Given the description of an element on the screen output the (x, y) to click on. 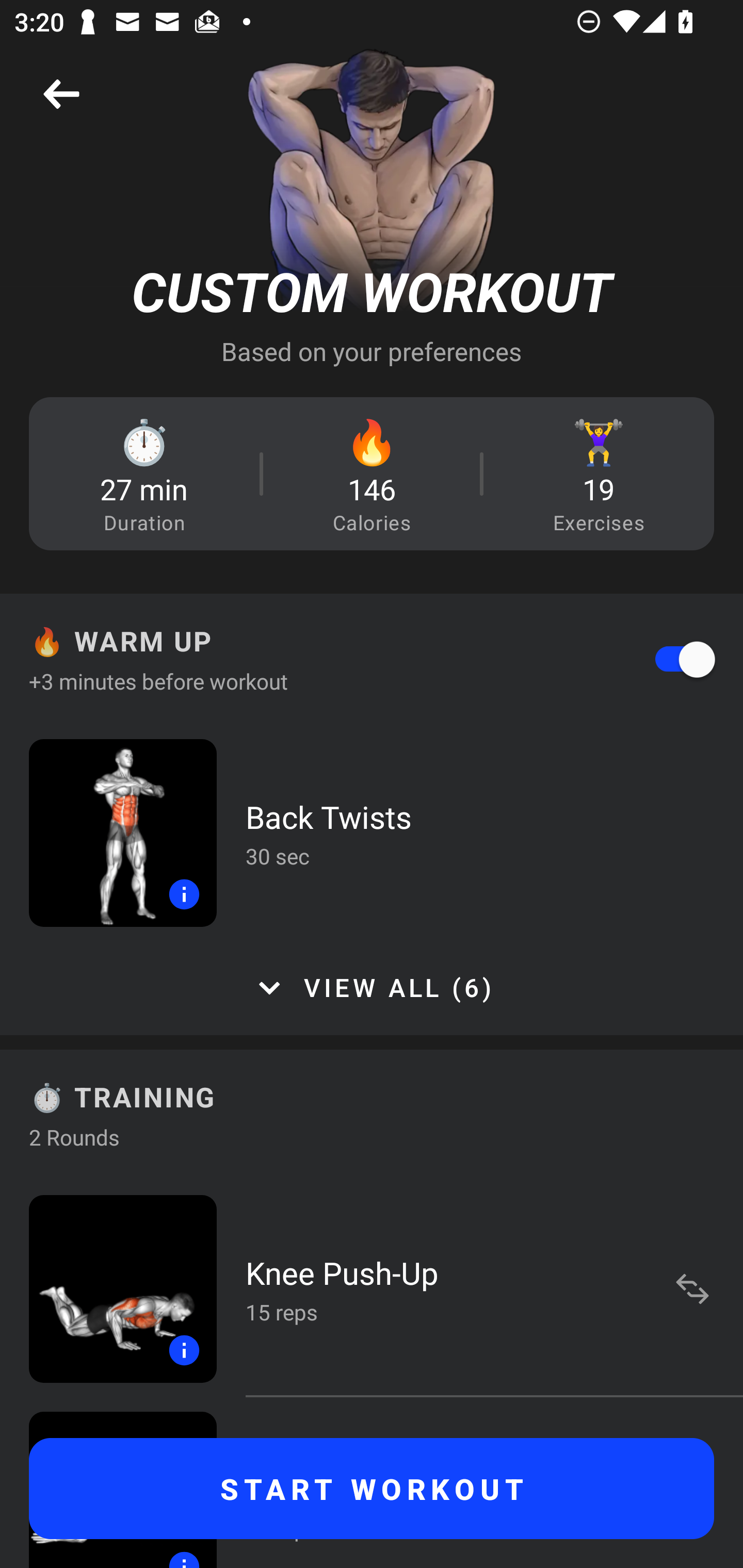
Back Twists 30 sec (371, 832)
VIEW ALL (6) (371, 987)
Knee Push-Up 15 reps (371, 1288)
START WORKOUT (371, 1488)
